Given the description of an element on the screen output the (x, y) to click on. 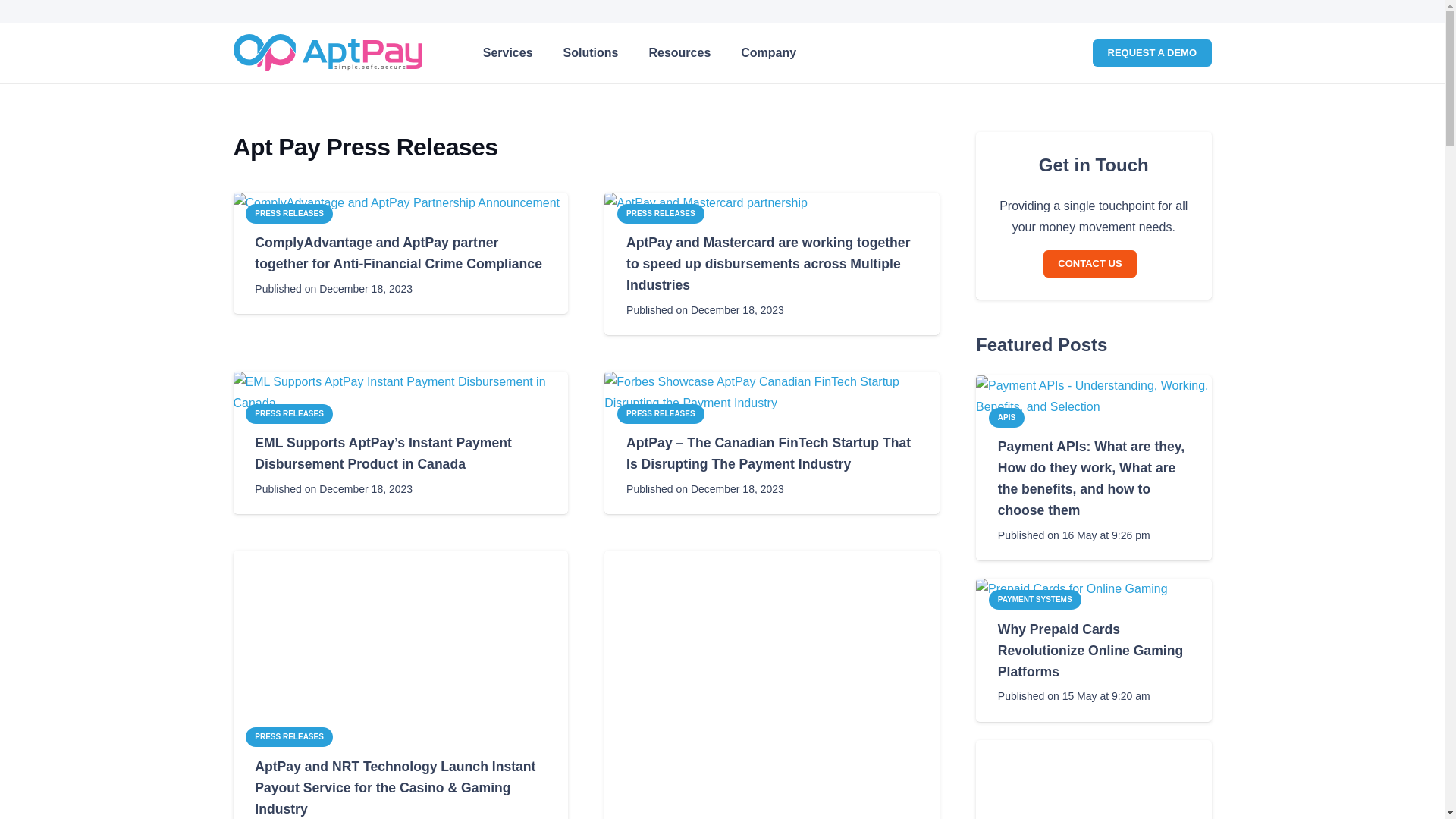
15 May 2024 at 09:20:39 -05:00 (1073, 695)
18 December 2023 at 15:20:51 -05:00 (705, 488)
18 December 2023 at 15:23:22 -05:00 (705, 310)
Services (507, 53)
18 December 2023 at 15:24:57 -05:00 (638, 53)
18 December 2023 at 15:21:50 -05:00 (333, 288)
Resources (333, 488)
Solutions (679, 53)
16 May 2024 at 21:26:36 -05:00 (590, 53)
Company (1073, 535)
